Given the description of an element on the screen output the (x, y) to click on. 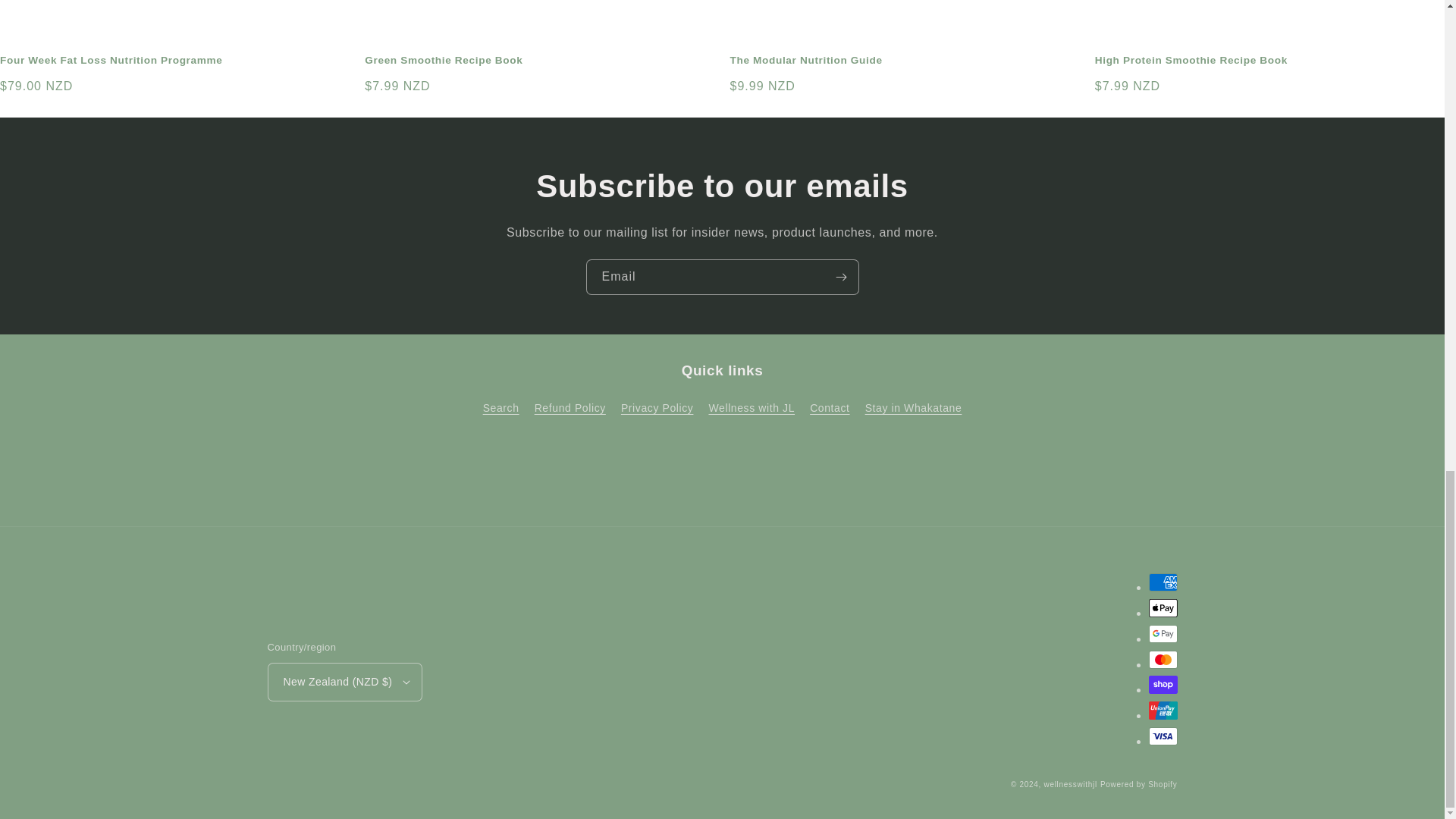
Shop Pay (1162, 684)
Apple Pay (1162, 607)
Mastercard (1162, 659)
Google Pay (1162, 633)
Union Pay (1162, 710)
Visa (1162, 736)
American Express (1162, 582)
